Given the description of an element on the screen output the (x, y) to click on. 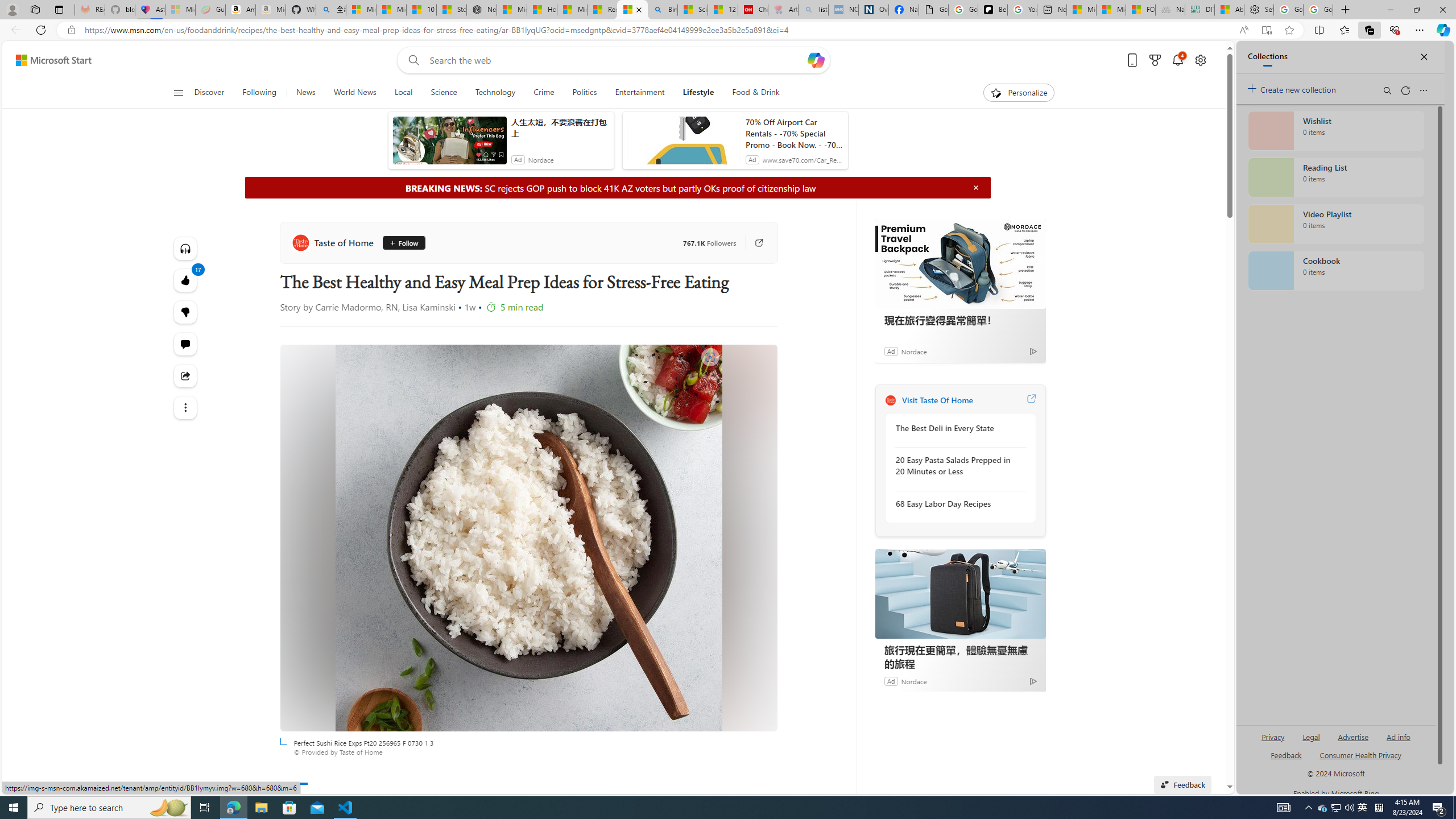
Be Smart | creating Science videos | Patreon (991, 9)
Visit Taste of Home website (1031, 399)
Perfect Sushi Rice Exps Ft20 256965 F 0730 1 3 (528, 537)
Web search (411, 60)
Go to publisher's site (752, 242)
Local (403, 92)
Open navigation menu (177, 92)
World News (355, 92)
